Given the description of an element on the screen output the (x, y) to click on. 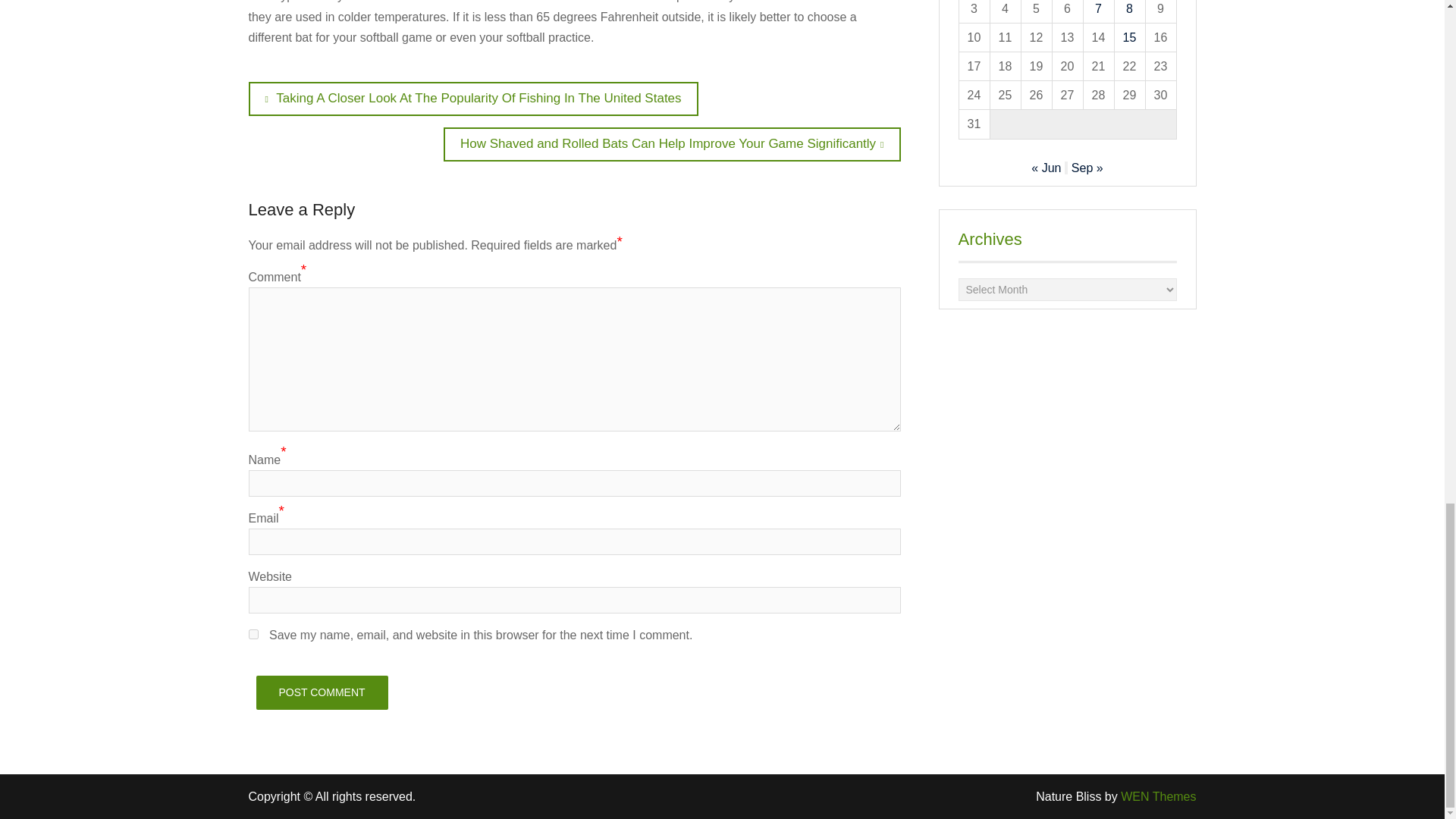
Post Comment (322, 692)
15 (1129, 37)
Post Comment (322, 692)
yes (253, 634)
